Given the description of an element on the screen output the (x, y) to click on. 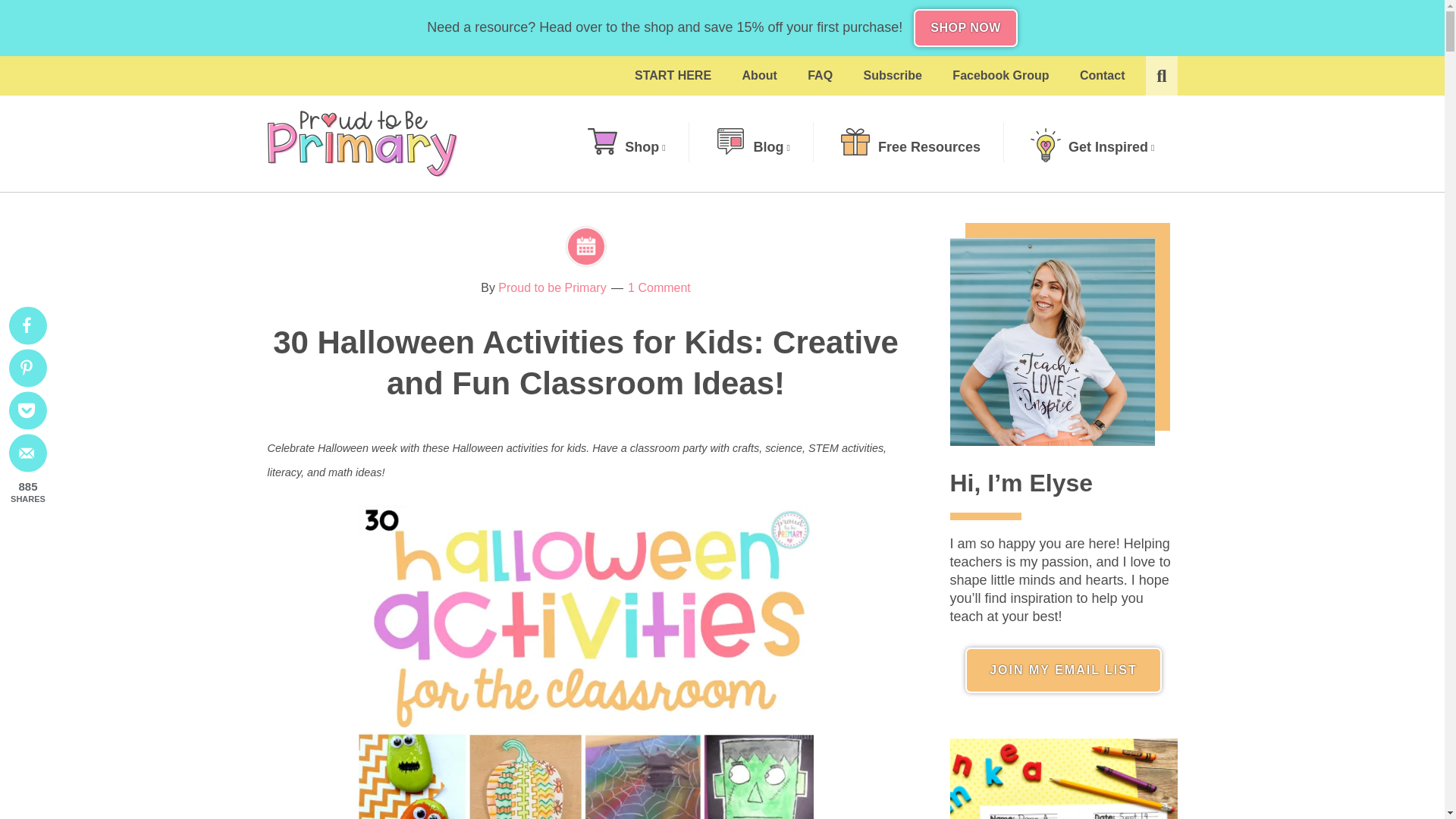
Blog (753, 147)
Facebook Group (1000, 75)
Share on Pocket (27, 410)
FAQ (819, 75)
Free Resources (909, 147)
Proud to be Primary (361, 143)
Shop (625, 147)
Subscribe (893, 75)
